Given the description of an element on the screen output the (x, y) to click on. 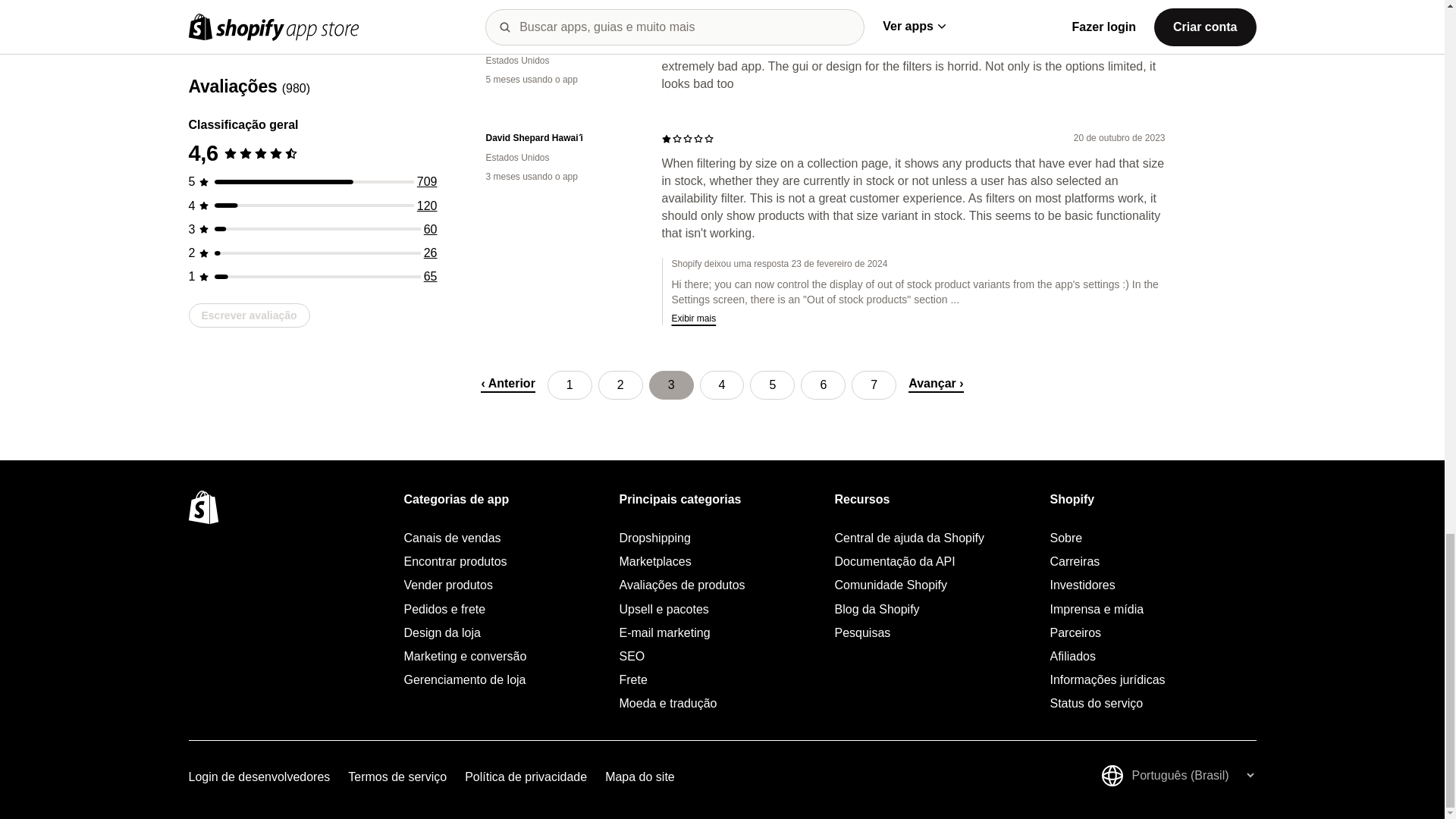
Otherworlds Market (560, 41)
